Given the description of an element on the screen output the (x, y) to click on. 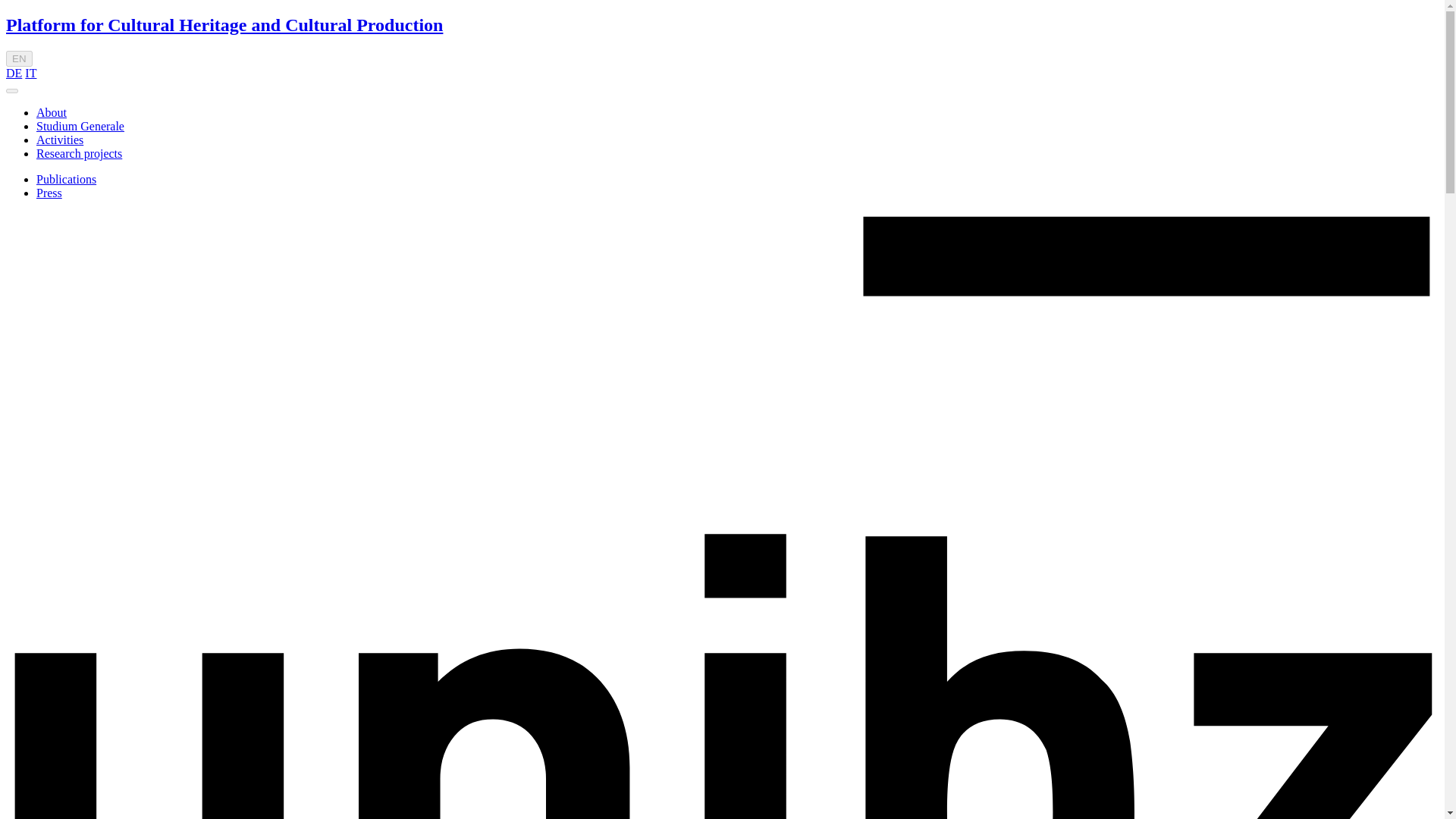
Activities (59, 139)
Studium Generale (79, 125)
Research projects (79, 153)
Publications (66, 178)
Publications (66, 178)
About (51, 112)
Platform for Cultural Heritage and Cultural Production (223, 25)
DE (13, 72)
EN (18, 58)
Research projects (79, 153)
